Given the description of an element on the screen output the (x, y) to click on. 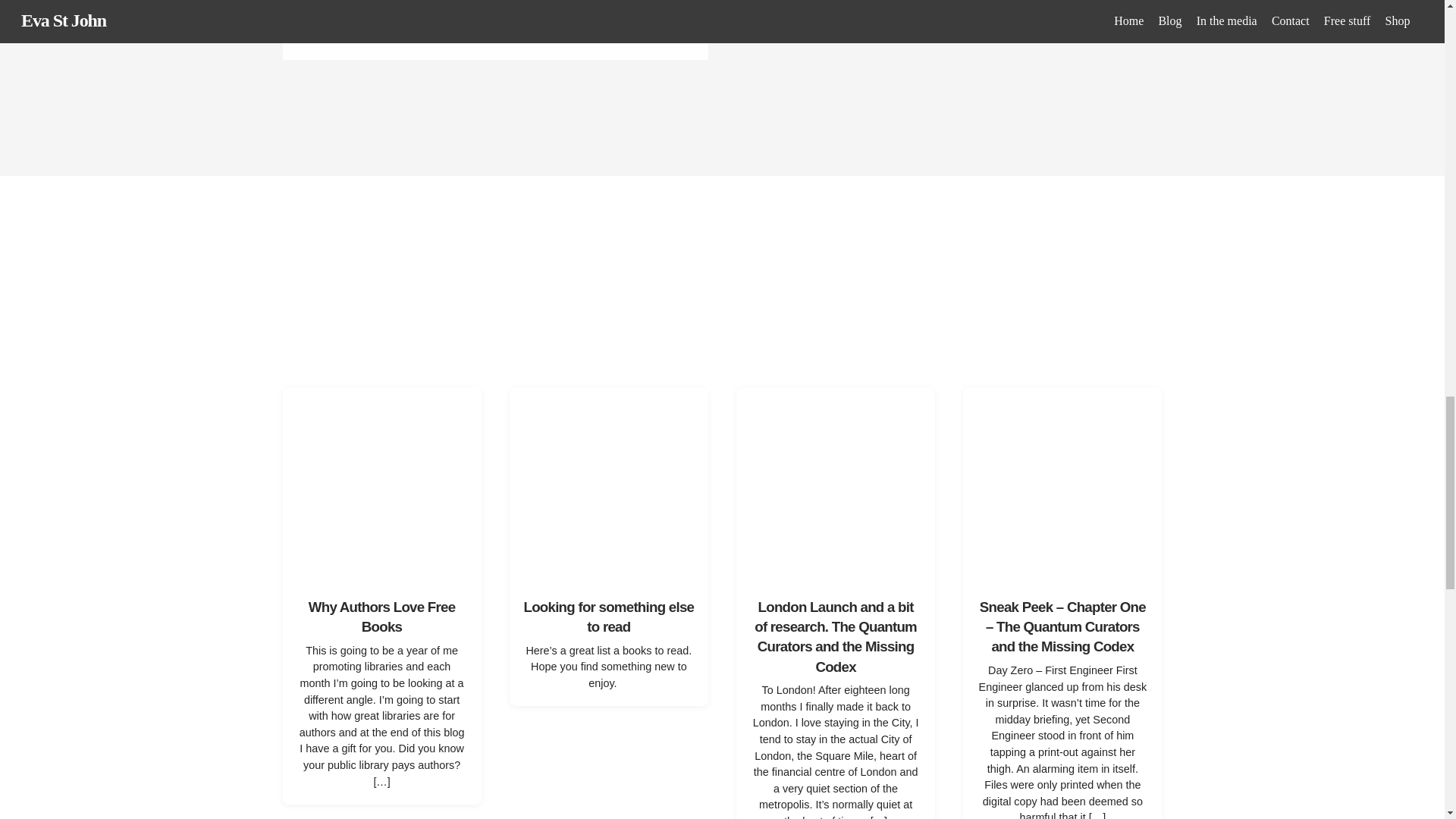
Looking for something else to read (608, 616)
Why Authors Love Free Books (381, 616)
